Given the description of an element on the screen output the (x, y) to click on. 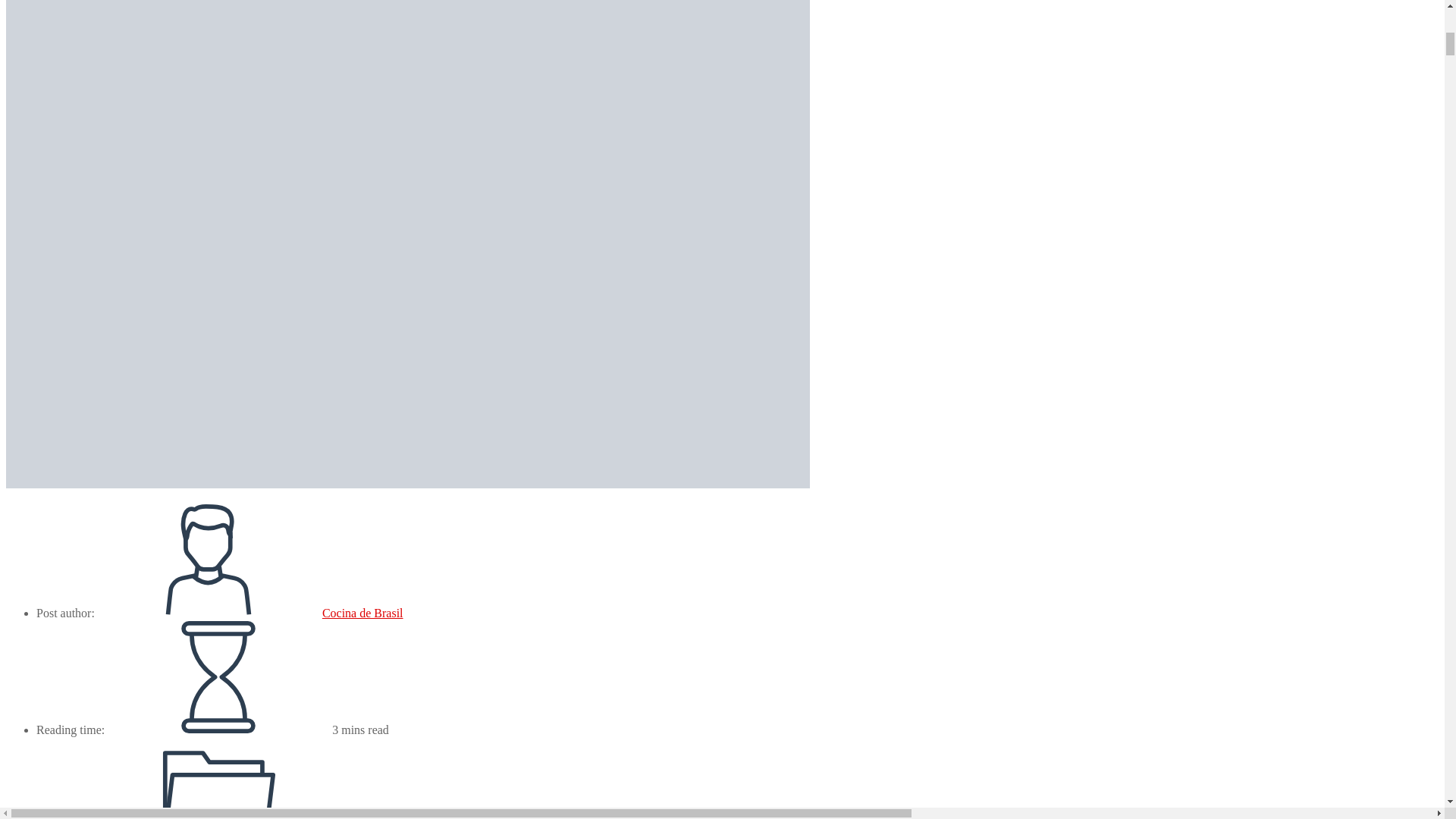
Cocina de Brasil (362, 612)
Posts by Cocina de Brasil (362, 612)
